Given the description of an element on the screen output the (x, y) to click on. 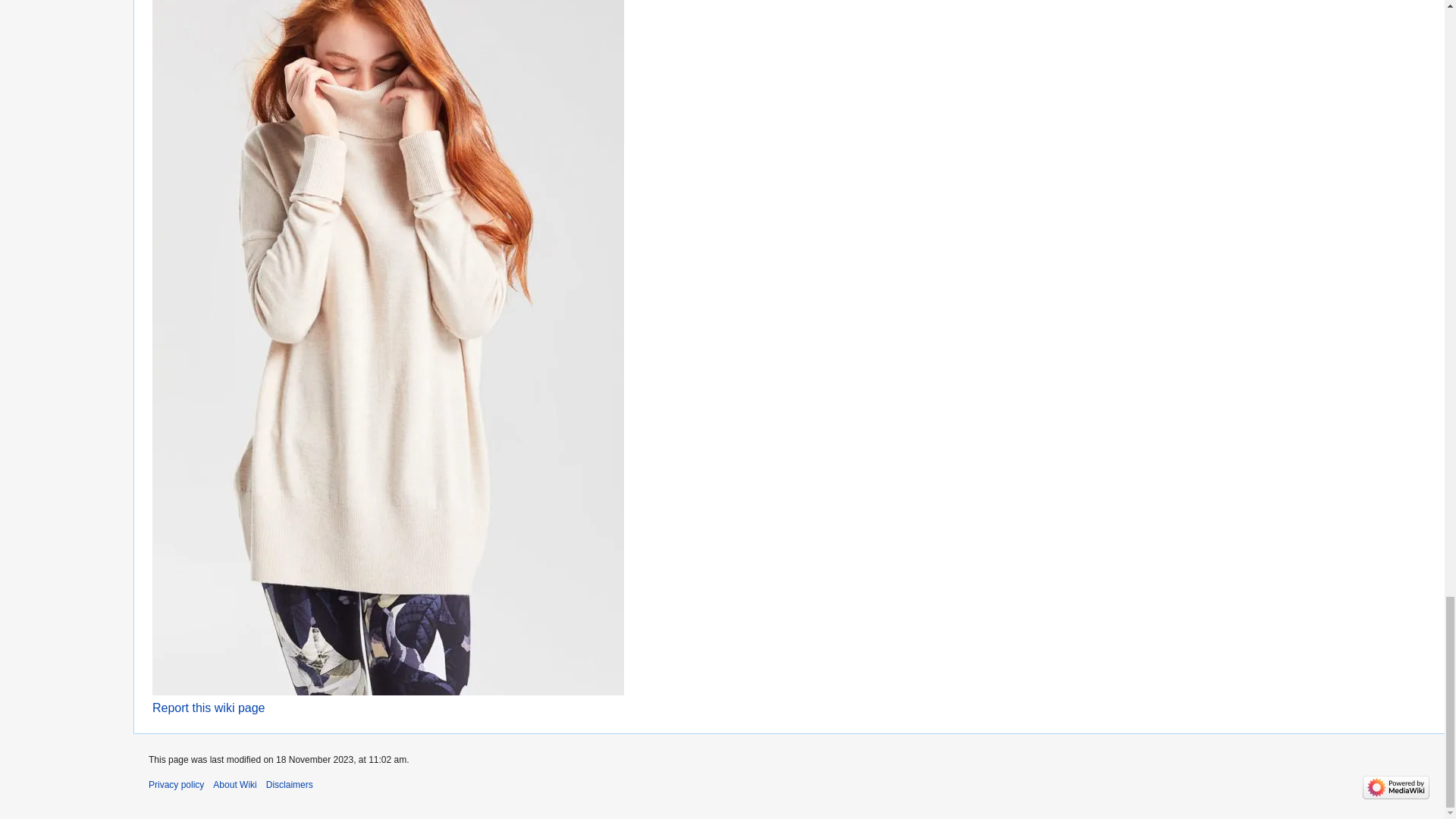
Report this wiki page (208, 707)
Privacy policy (175, 784)
About Wiki (234, 784)
Disclaimers (289, 784)
